Given the description of an element on the screen output the (x, y) to click on. 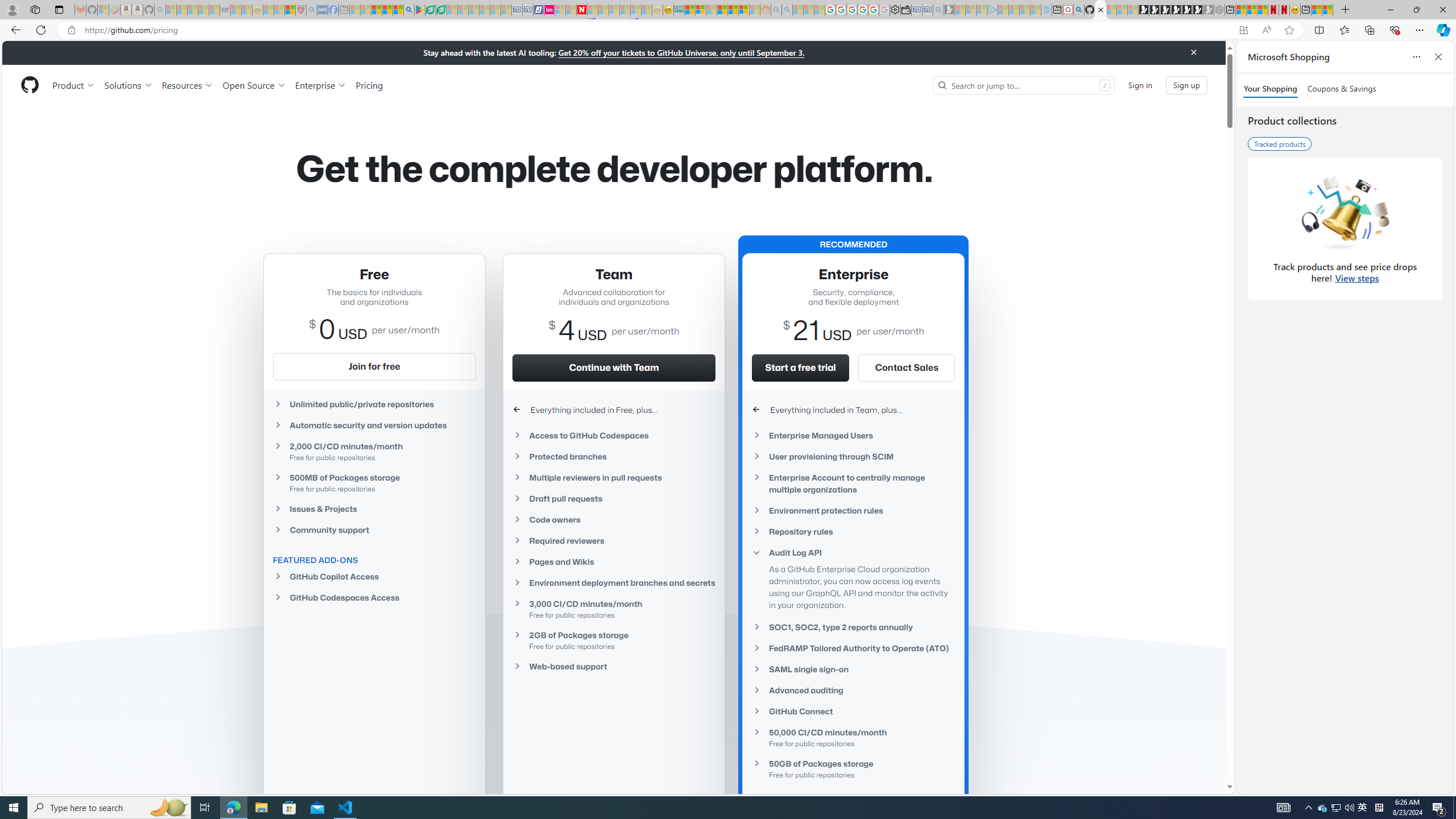
Wildlife - MSN (1316, 9)
Environment protection rules (853, 510)
Environment protection rules (853, 510)
50GB of Packages storageFree for public repositories (853, 768)
Multiple reviewers in pull requests (614, 477)
